Given the description of an element on the screen output the (x, y) to click on. 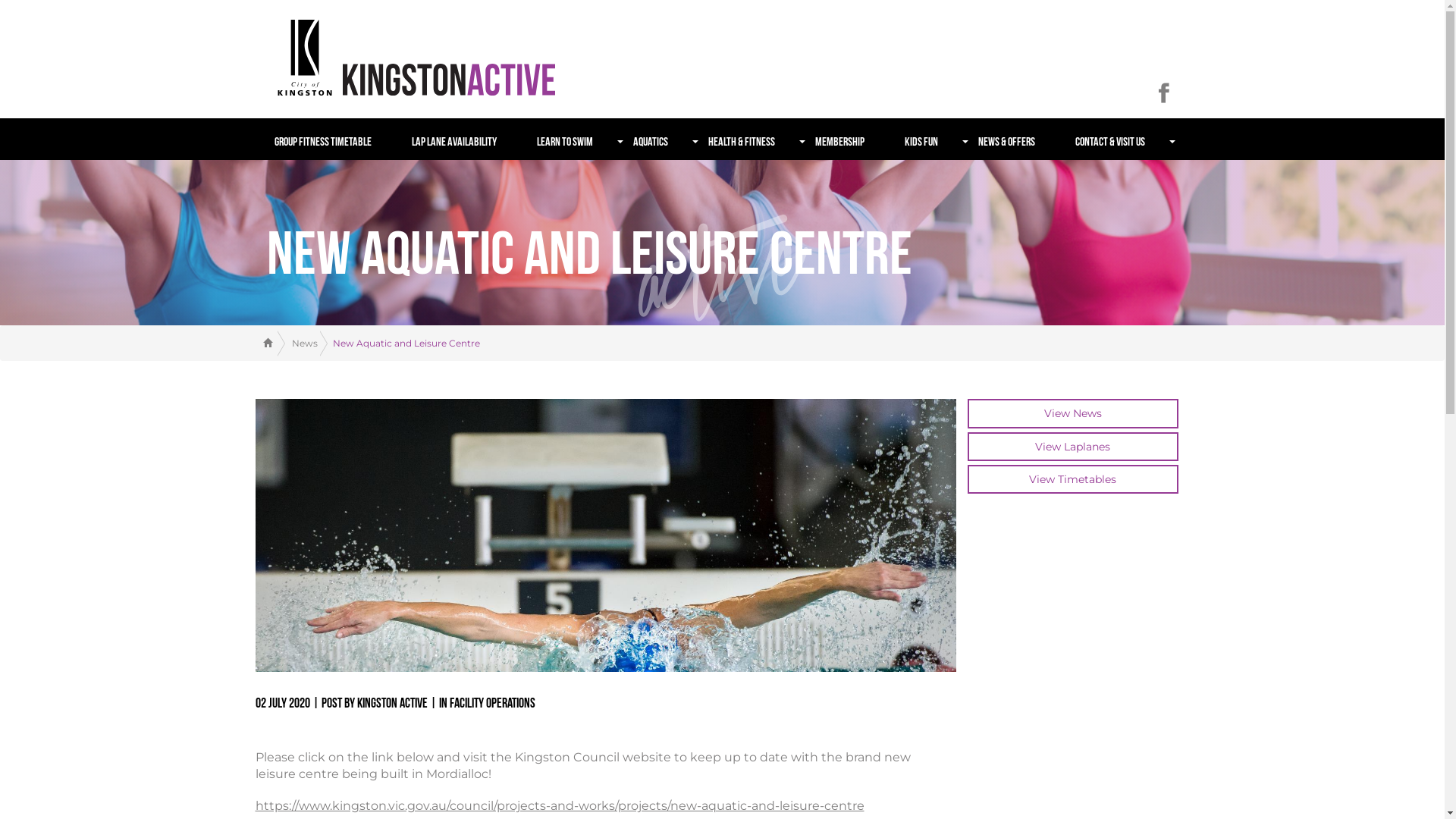
NEWS & OFFERS Element type: text (1018, 139)
View Laplanes Element type: text (1072, 446)
View News Element type: text (1072, 412)
News Element type: text (297, 342)
LAP LANE AVAILABILITY Element type: text (466, 139)
CONTACT & VISIT US Element type: text (1122, 139)
AQUATICS Element type: text (662, 139)
View Timetables Element type: text (1072, 478)
KIDS FUN Element type: text (933, 139)
LEARN TO SWIM Element type: text (577, 139)
HEALTH & FITNESS Element type: text (753, 139)
GROUP FITNESS TIMETABLE Element type: text (335, 139)
MEMBERSHIP Element type: text (852, 139)
